Given the description of an element on the screen output the (x, y) to click on. 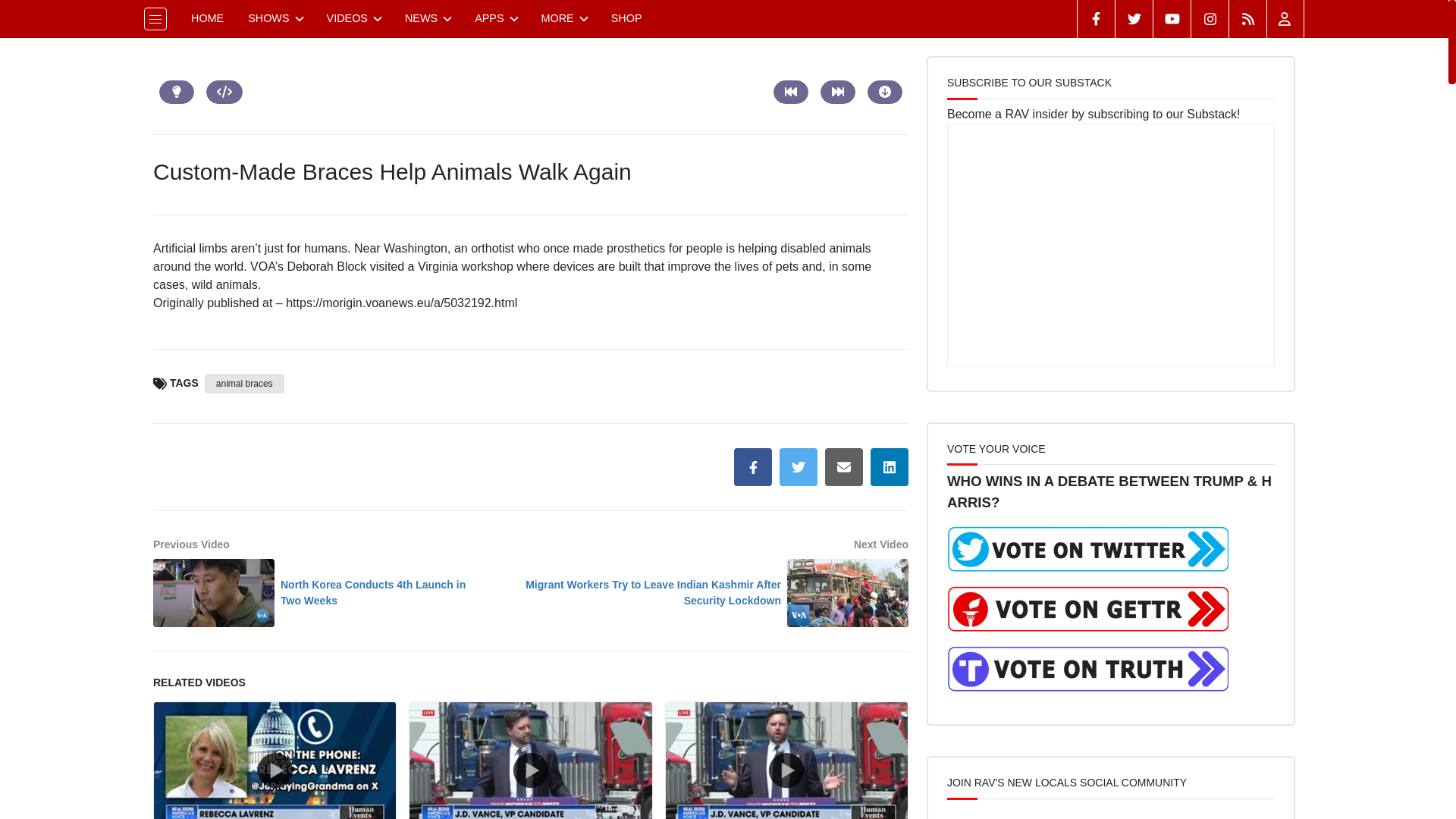
RUMBLE (1247, 18)
SHOWS (274, 18)
VIDEOS (353, 18)
HOME (207, 18)
APPS (495, 18)
YouTube (1172, 18)
NEWS (428, 18)
Login (1285, 18)
animal braces (244, 383)
Facebook (1096, 18)
